Given the description of an element on the screen output the (x, y) to click on. 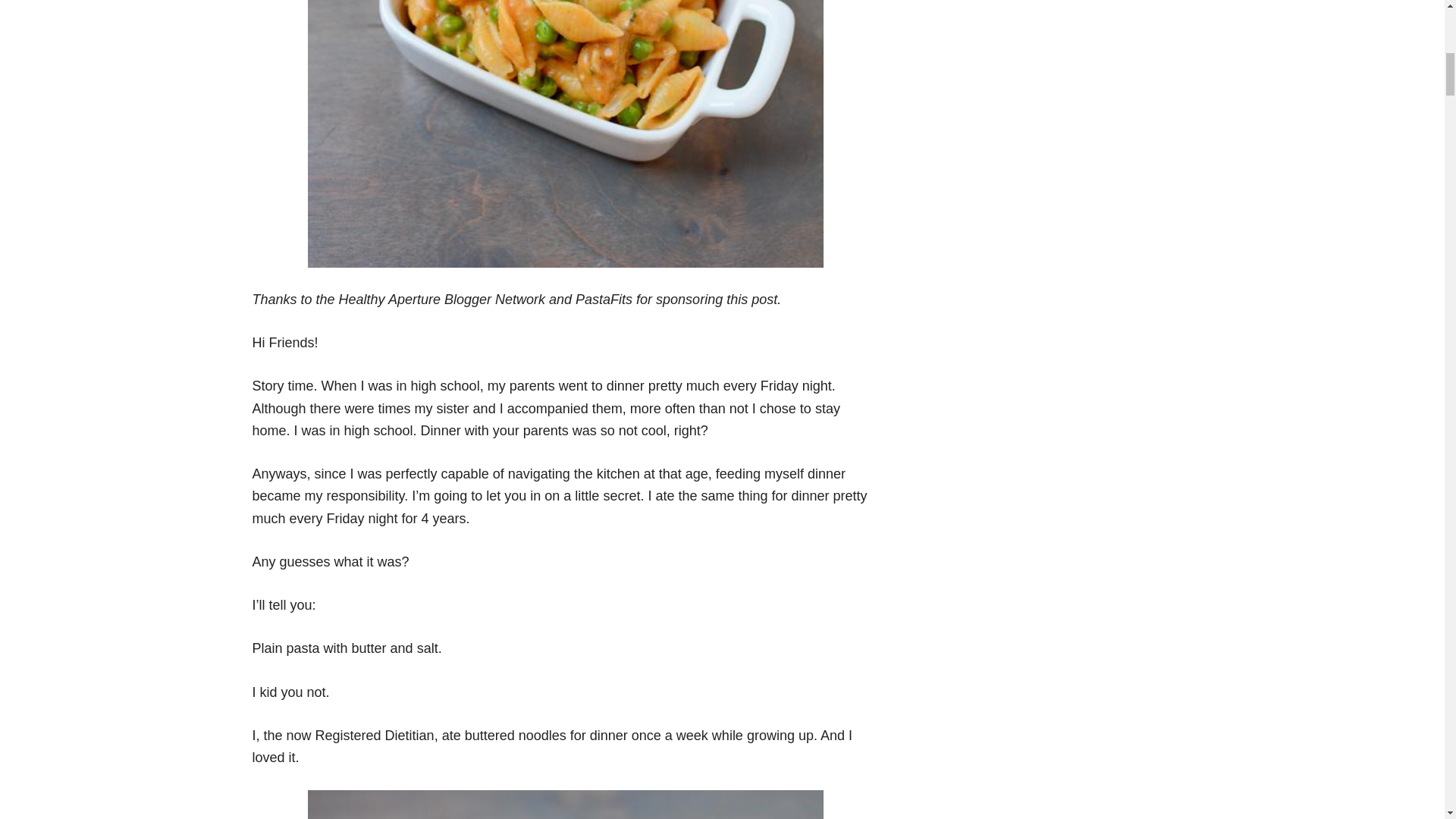
Stovetop Macaroni and Cheese with Sausage and Peas 7 (565, 804)
